Given the description of an element on the screen output the (x, y) to click on. 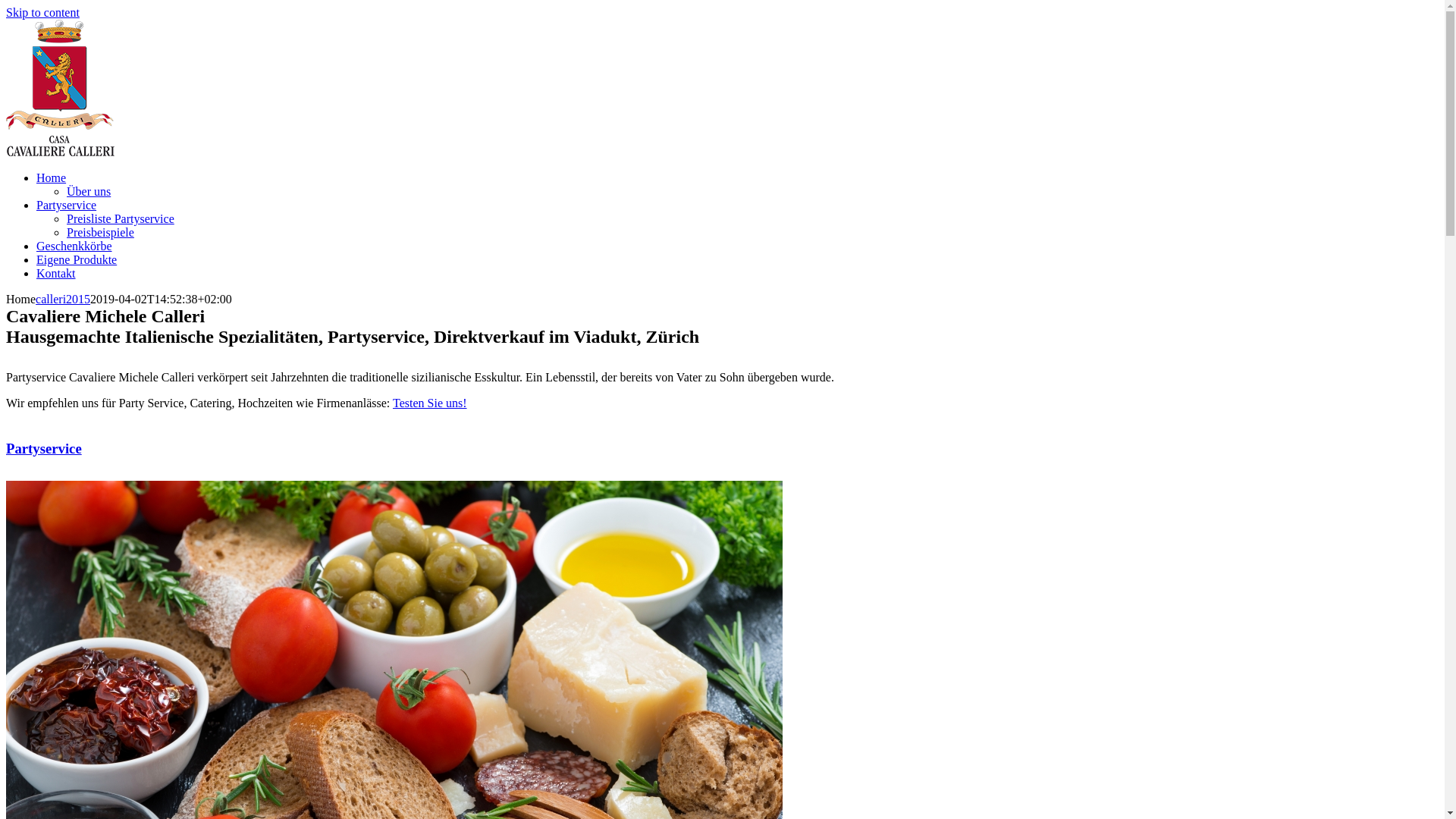
Partyservice Element type: text (43, 448)
Preisbeispiele Element type: text (100, 231)
Partyservice Element type: text (66, 204)
Eigene Produkte Element type: text (76, 259)
Testen Sie uns! Element type: text (429, 402)
Kontakt Element type: text (55, 272)
Skip to content Element type: text (42, 12)
Home Element type: text (50, 177)
Preisliste Partyservice Element type: text (120, 218)
calleri2015 Element type: text (62, 298)
